Given the description of an element on the screen output the (x, y) to click on. 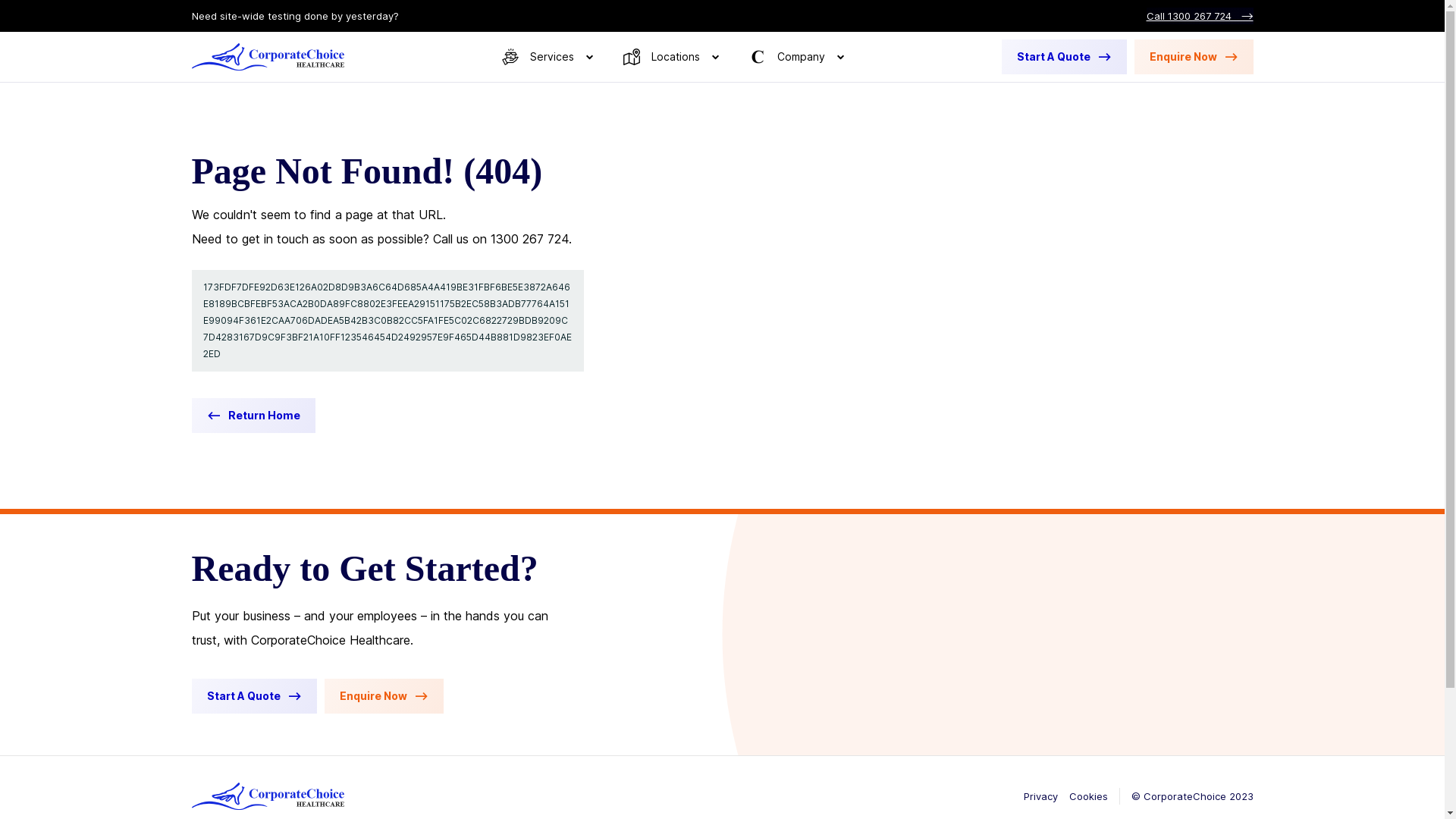
Pre-Employments Element type: text (783, 95)
All Locations Element type: text (890, 95)
CorporateChoice Healthcare Element type: hover (267, 795)
Cookies Element type: text (1088, 795)
Privacy Element type: text (1040, 795)
CorporateChoice Healthcare Element type: hover (267, 56)
Company Element type: text (796, 56)
Get in Touch Element type: text (1013, 95)
Locations Element type: text (671, 56)
Services Element type: text (547, 56)
